Given the description of an element on the screen output the (x, y) to click on. 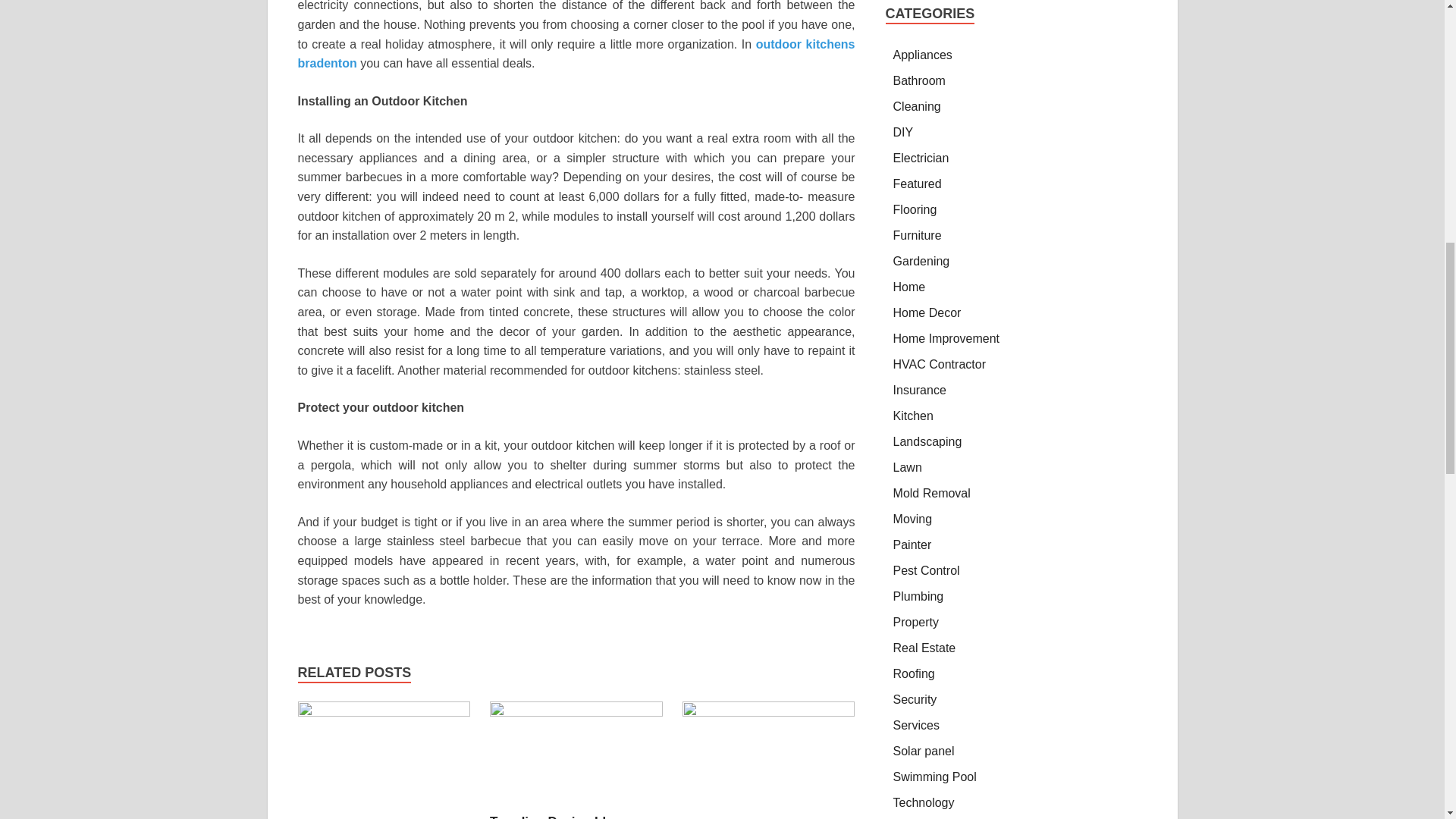
outdoor kitchens bradenton (575, 53)
Trending Natural Wood Kitchen Cabinets Design Ideas (769, 712)
Trending Design Ideas on Modern Kitchen Cabinets (567, 816)
Trending Design Ideas on Modern Kitchen Cabinets (575, 712)
Trending Design Ideas on Modern Kitchen Cabinets (567, 816)
